Given the description of an element on the screen output the (x, y) to click on. 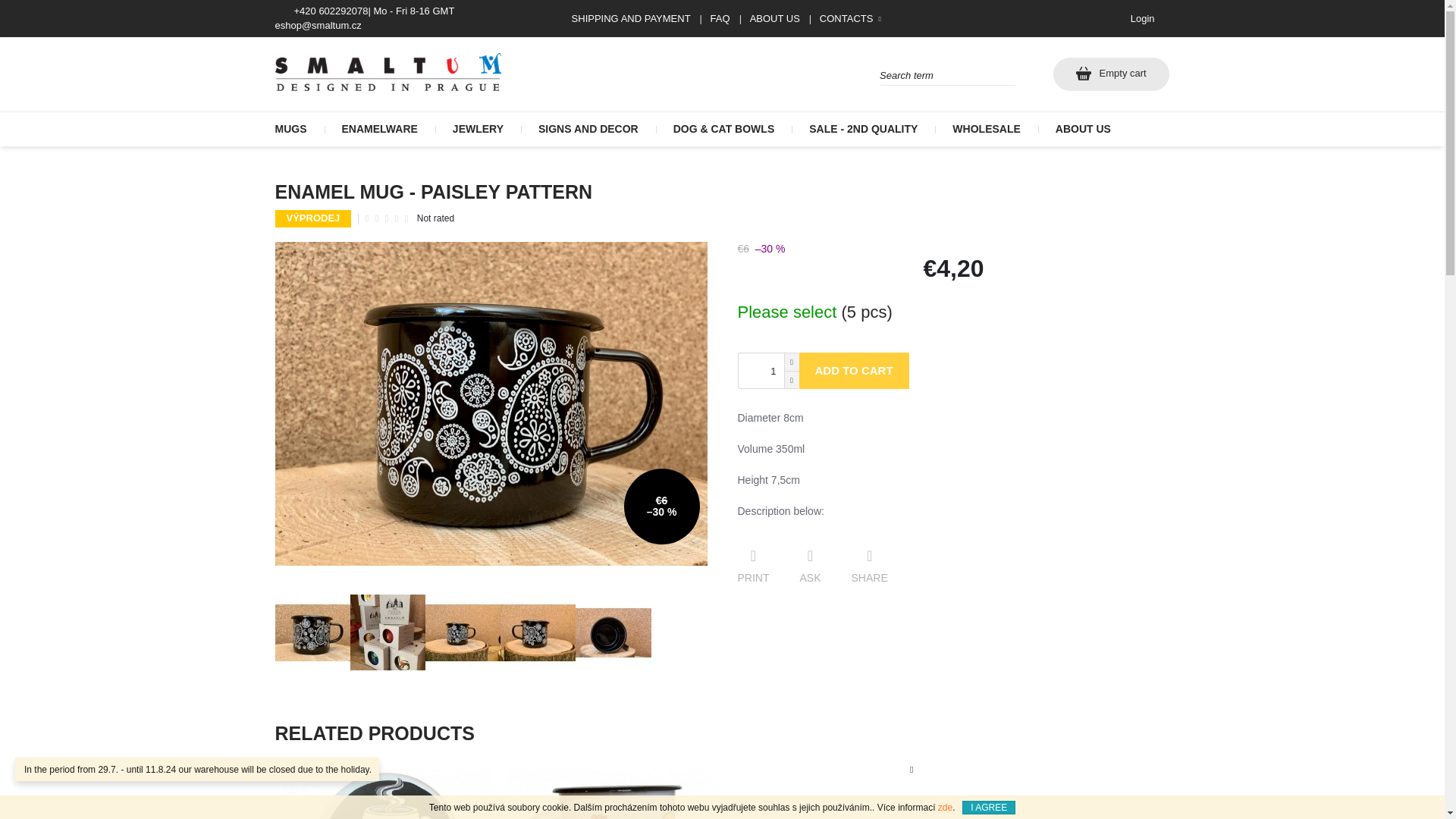
Login (1142, 18)
FAQ (719, 18)
CONTACTS (846, 18)
1 (757, 370)
MUGS (299, 128)
ENAMELWARE (379, 128)
Print product (753, 566)
Share product (868, 566)
SHIPPING AND PAYMENT (631, 18)
Availability (952, 312)
Speak to a sales advisor (1110, 73)
ABOUT US (809, 566)
SEARCH (774, 18)
